Given the description of an element on the screen output the (x, y) to click on. 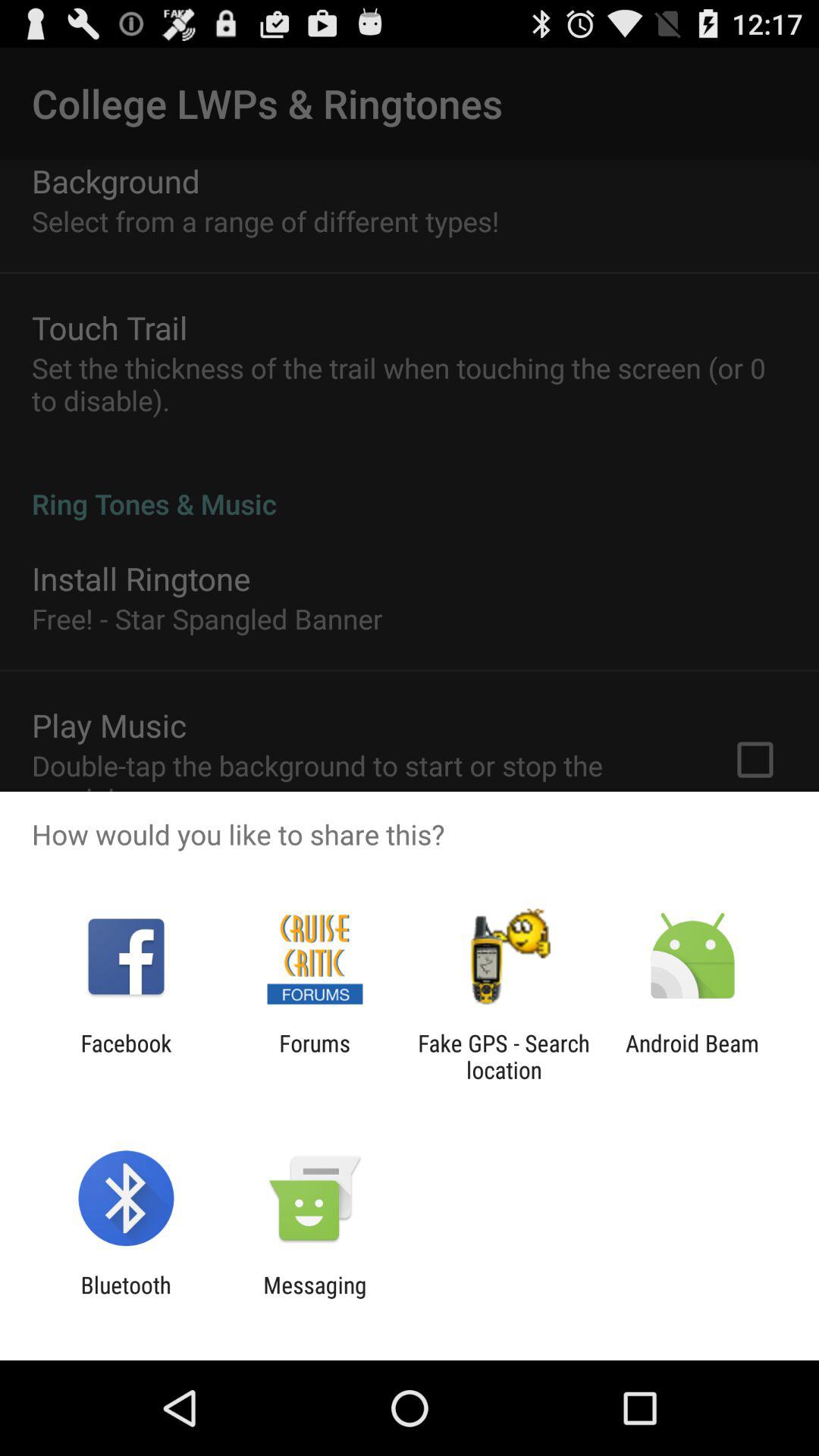
press the icon next to the fake gps search (692, 1056)
